Given the description of an element on the screen output the (x, y) to click on. 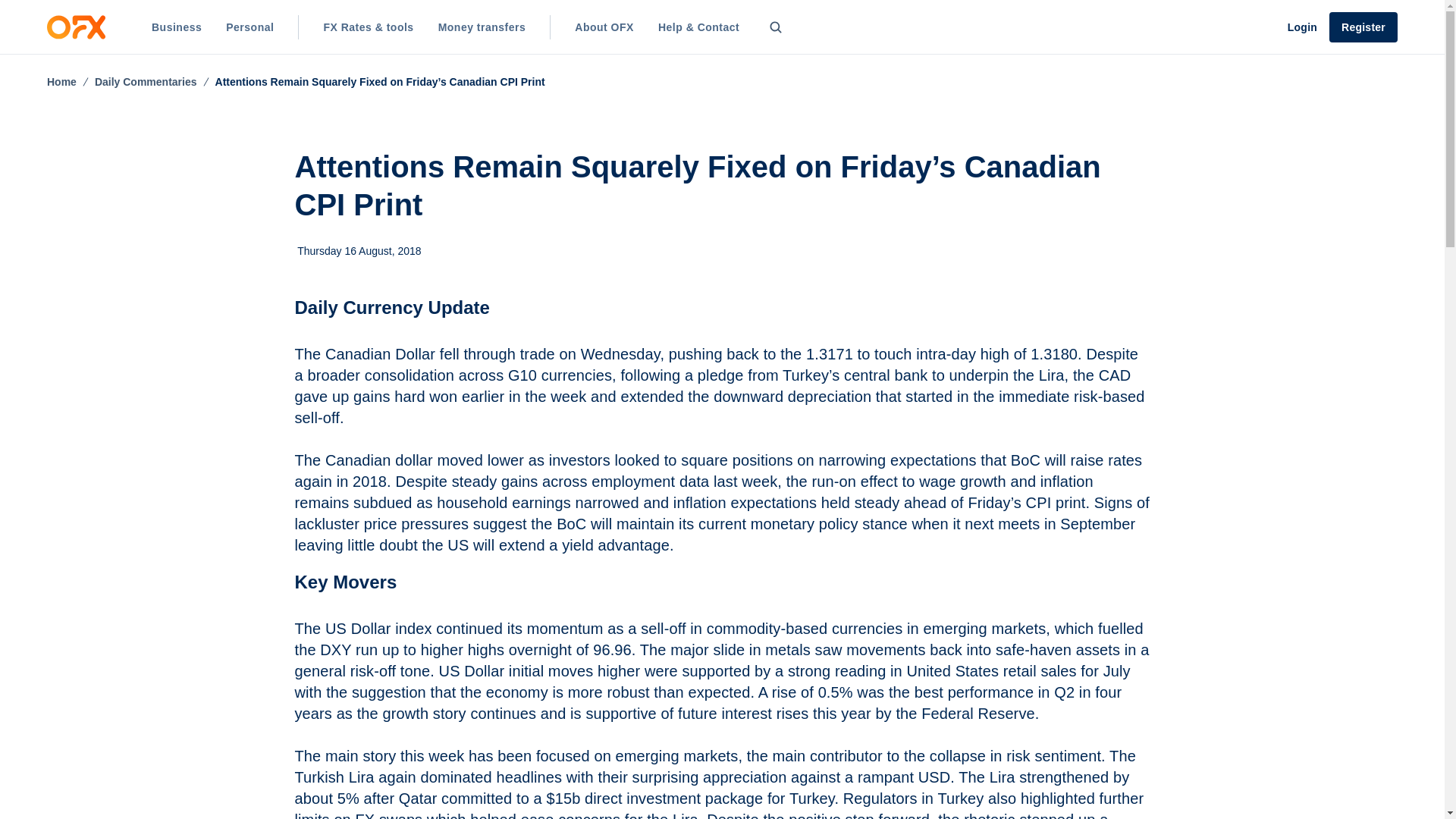
Personal (249, 27)
Business (176, 27)
